Given the description of an element on the screen output the (x, y) to click on. 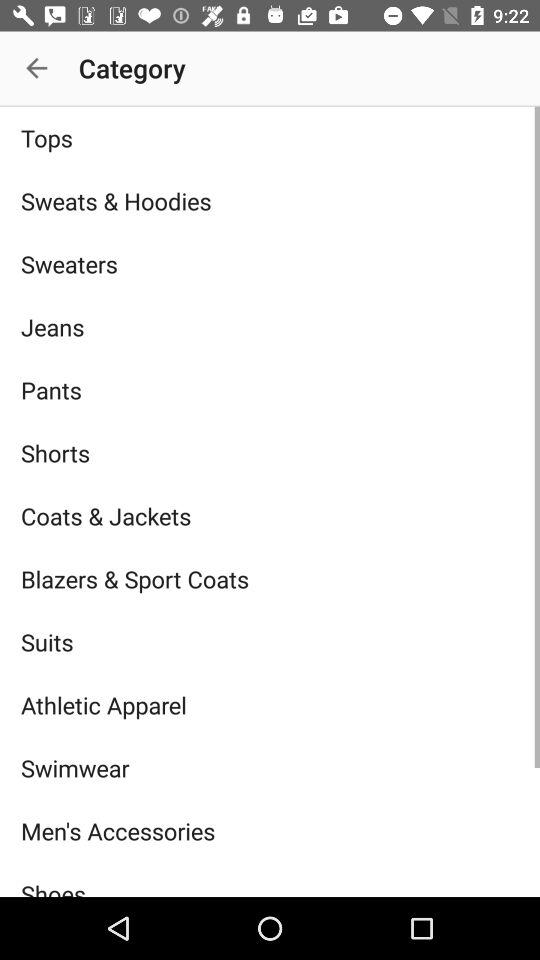
swipe to tops icon (270, 137)
